Given the description of an element on the screen output the (x, y) to click on. 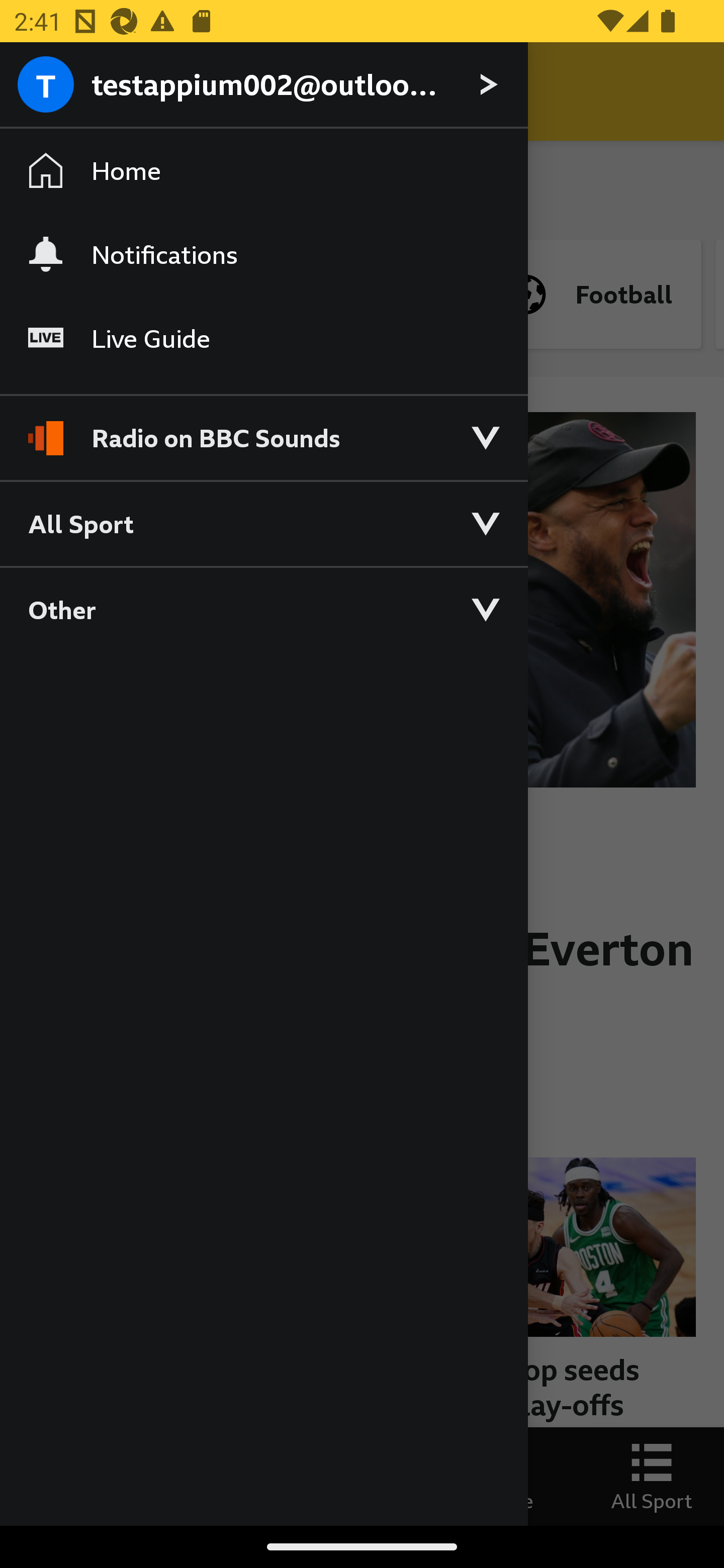
testappium002@outlook.com (263, 85)
Home (263, 170)
Notifications (263, 253)
Live Guide (263, 338)
Radio on BBC Sounds (263, 429)
All Sport (263, 522)
Other (263, 609)
